Given the description of an element on the screen output the (x, y) to click on. 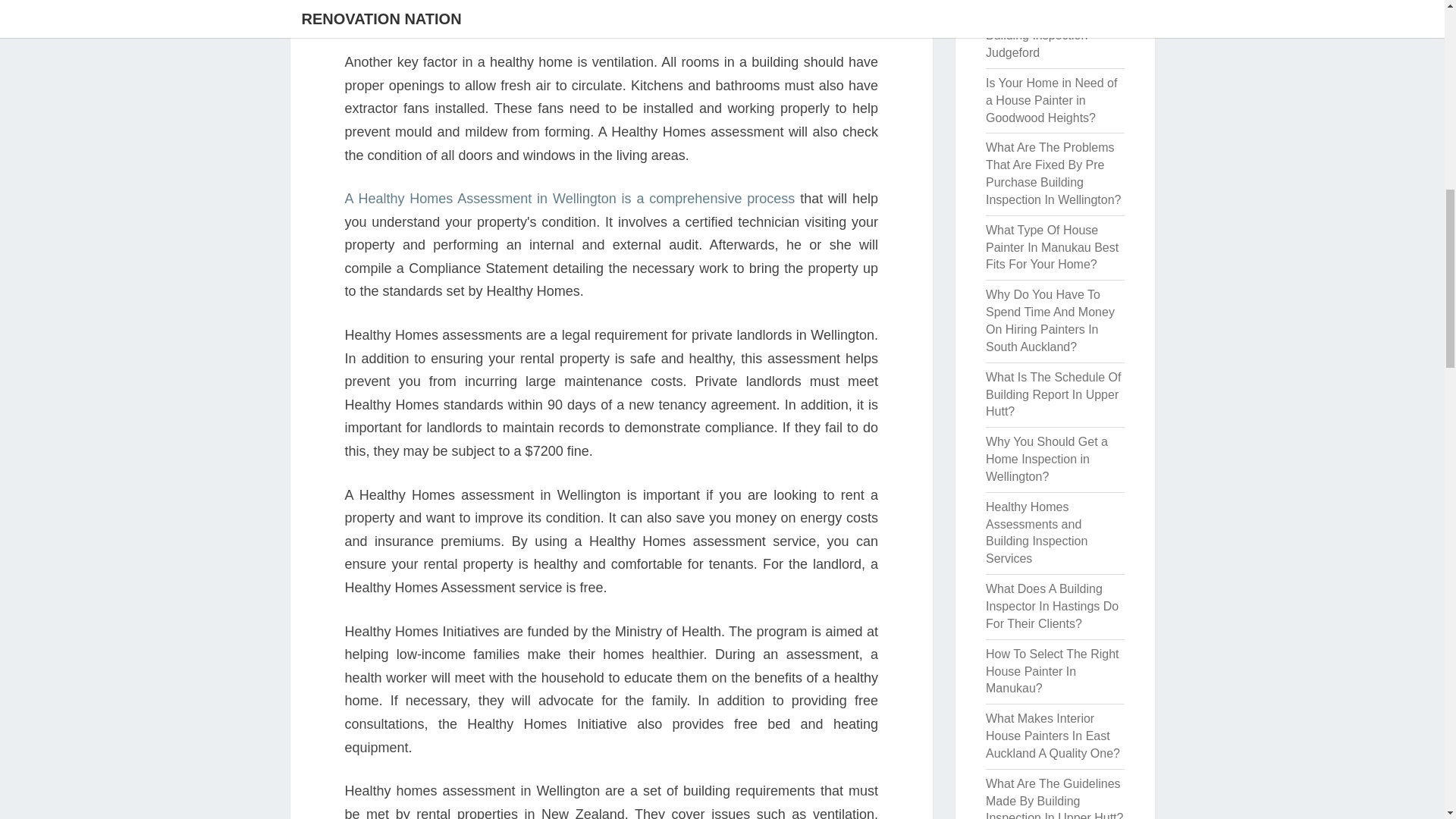
What Is The Schedule Of Building Report In Upper Hutt? (1053, 394)
Healthy Homes Assessments and Building Inspection Services (1036, 532)
How To Select The Right House Painter In Manukau? (1052, 671)
Is Your Home in Need of a House Painter in Goodwood Heights? (1050, 100)
